Given the description of an element on the screen output the (x, y) to click on. 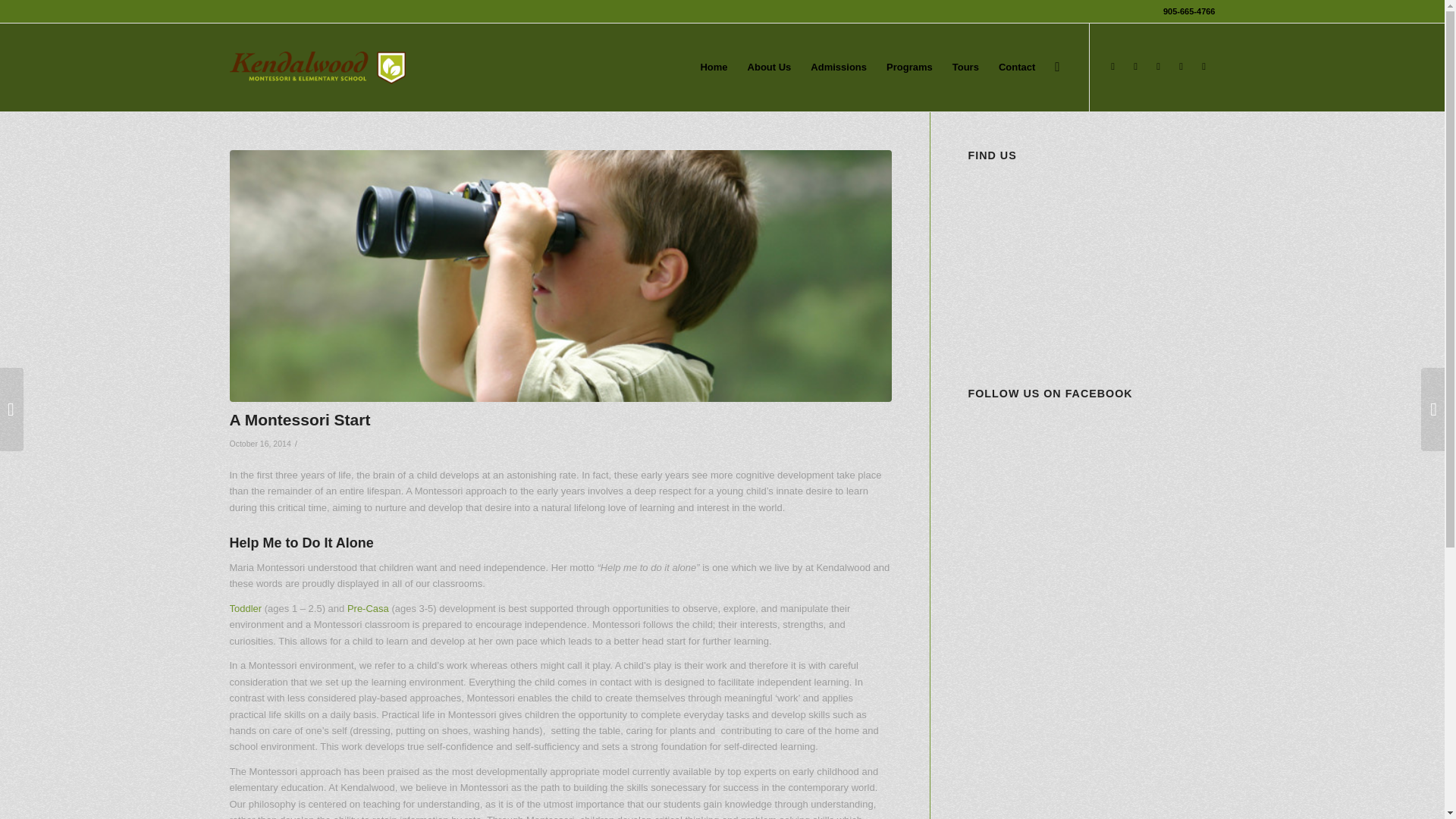
A Montessori Start (298, 419)
Programs (367, 608)
Toddler (245, 608)
Twitter (1112, 66)
Rss (1180, 66)
Instagram (1203, 66)
Pre-Casa (367, 608)
Pinterest (1135, 66)
Permanent Link: A Montessori Start (298, 419)
Programs (245, 608)
Linkedin (1158, 66)
